Given the description of an element on the screen output the (x, y) to click on. 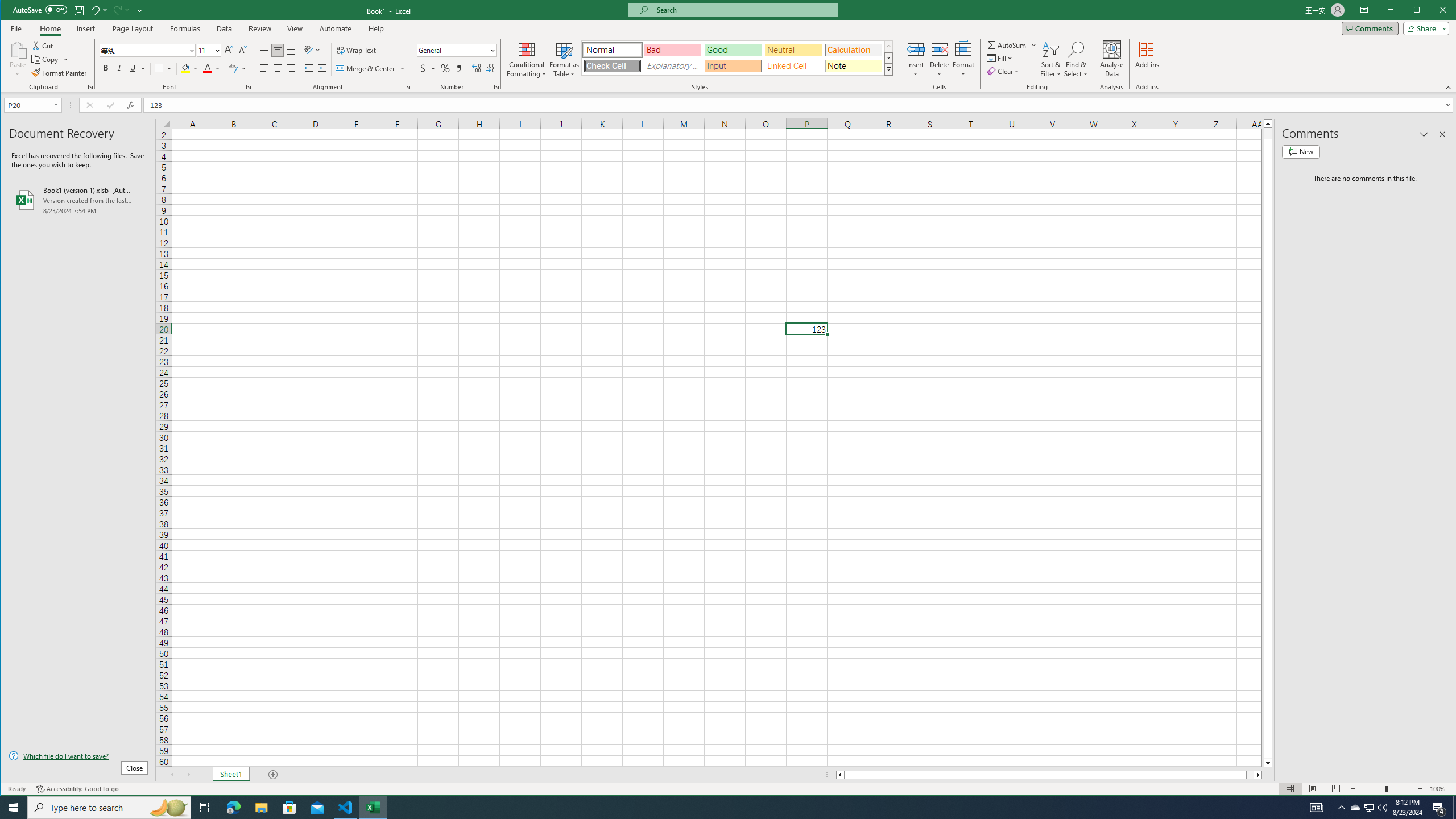
Font (143, 50)
Notification Chevron (1341, 807)
Fill (1000, 57)
Cell Styles (887, 69)
Decrease Decimal (489, 68)
Conditional Formatting (526, 59)
Middle Align (276, 49)
Copy (45, 59)
Paste (17, 48)
Sort & Filter (1050, 59)
Format Cell Number (496, 86)
